Given the description of an element on the screen output the (x, y) to click on. 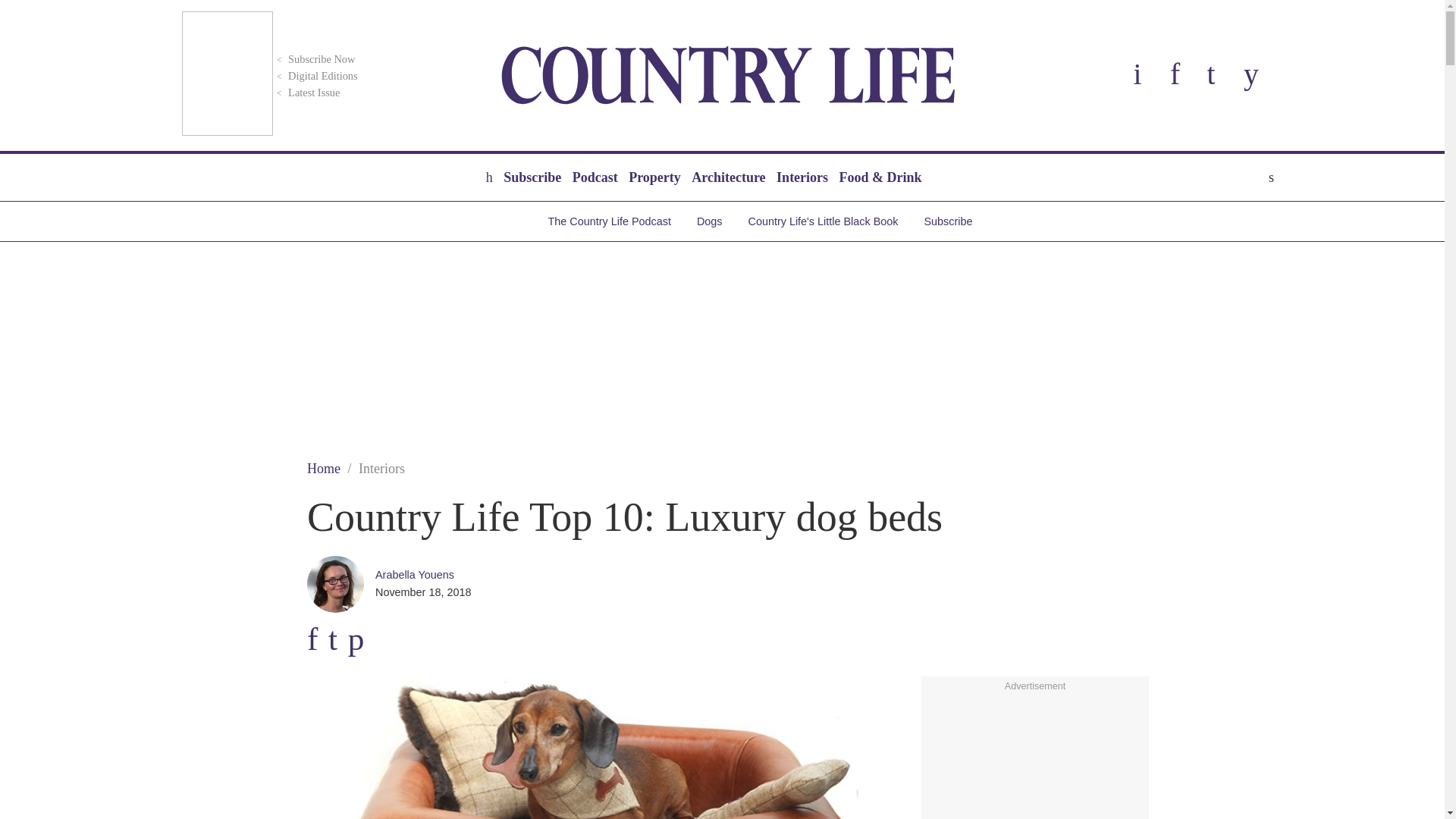
Subscribe (531, 176)
Interiors (802, 176)
Digital Editions (315, 75)
Latest Issue (306, 92)
Subscribe Now (314, 59)
Property (654, 176)
Podcast (595, 176)
Country Life (727, 74)
Architecture (727, 176)
